Given the description of an element on the screen output the (x, y) to click on. 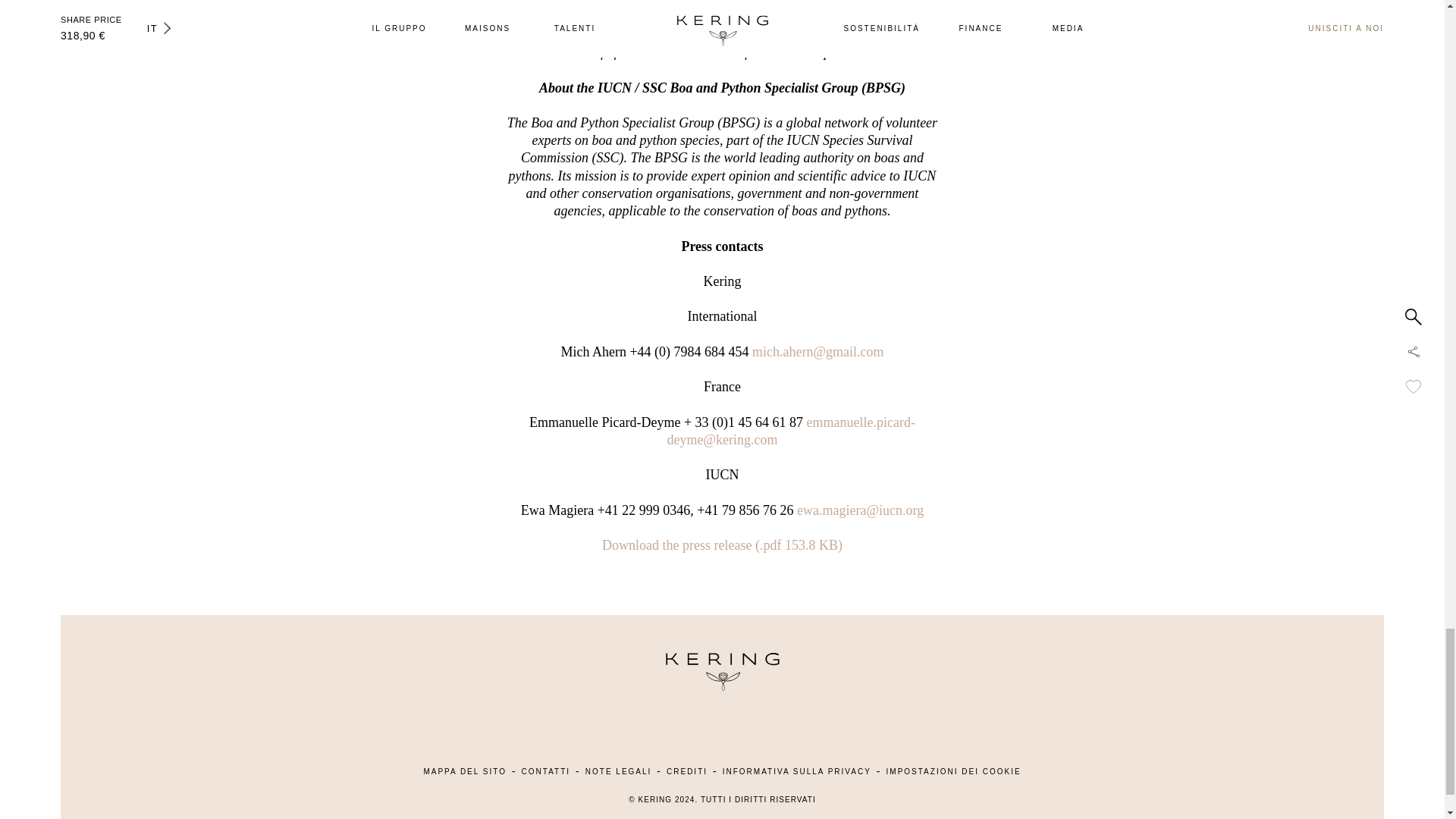
Kering (720, 686)
Download the .PDF report (722, 544)
